Given the description of an element on the screen output the (x, y) to click on. 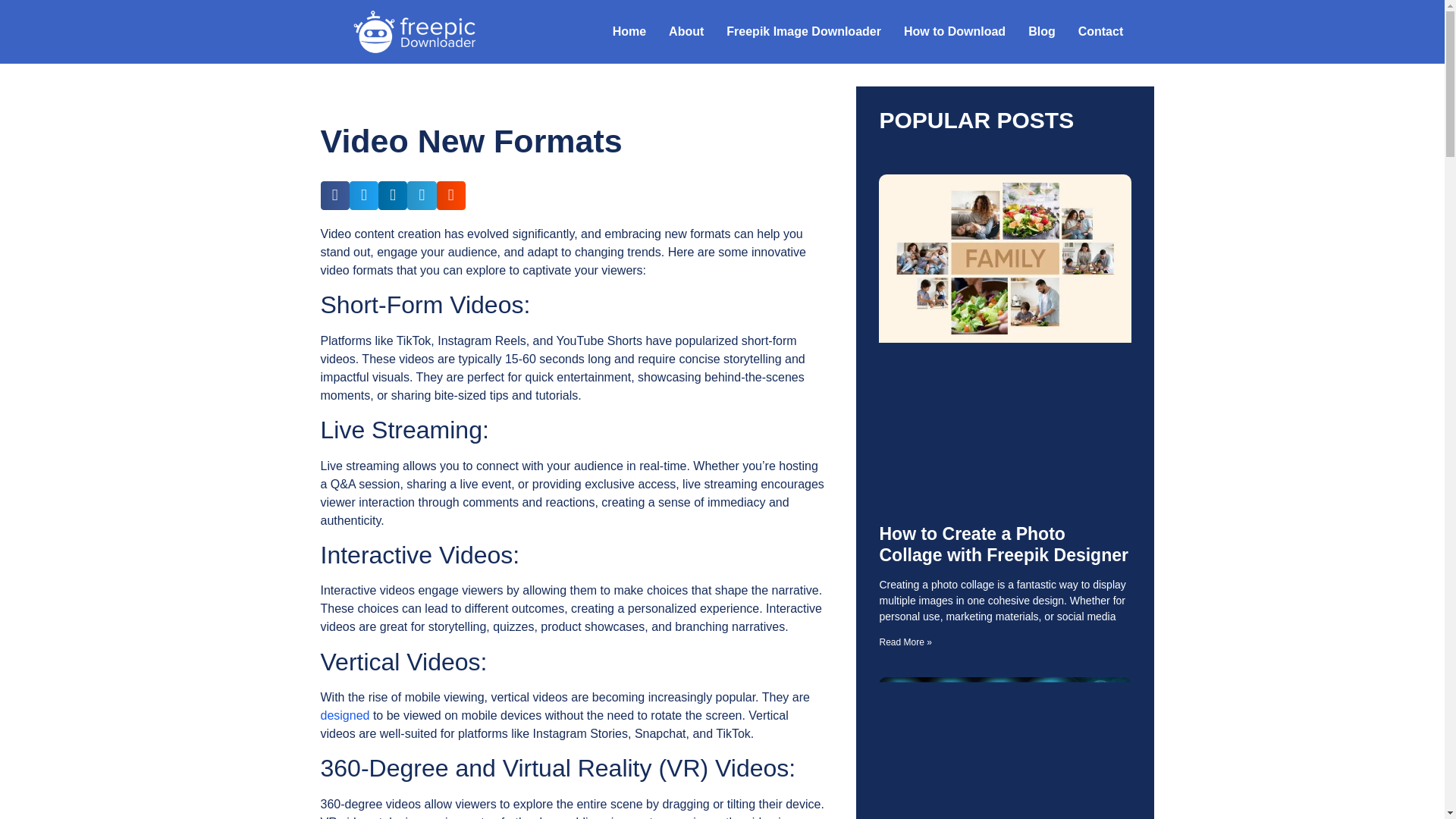
Home (629, 31)
designed (344, 715)
How to Create a Photo Collage with Freepik Designer (1002, 544)
How to Download (954, 31)
Contact (1101, 31)
Blog (1041, 31)
Freepik Image Downloader (803, 31)
About (686, 31)
